Given the description of an element on the screen output the (x, y) to click on. 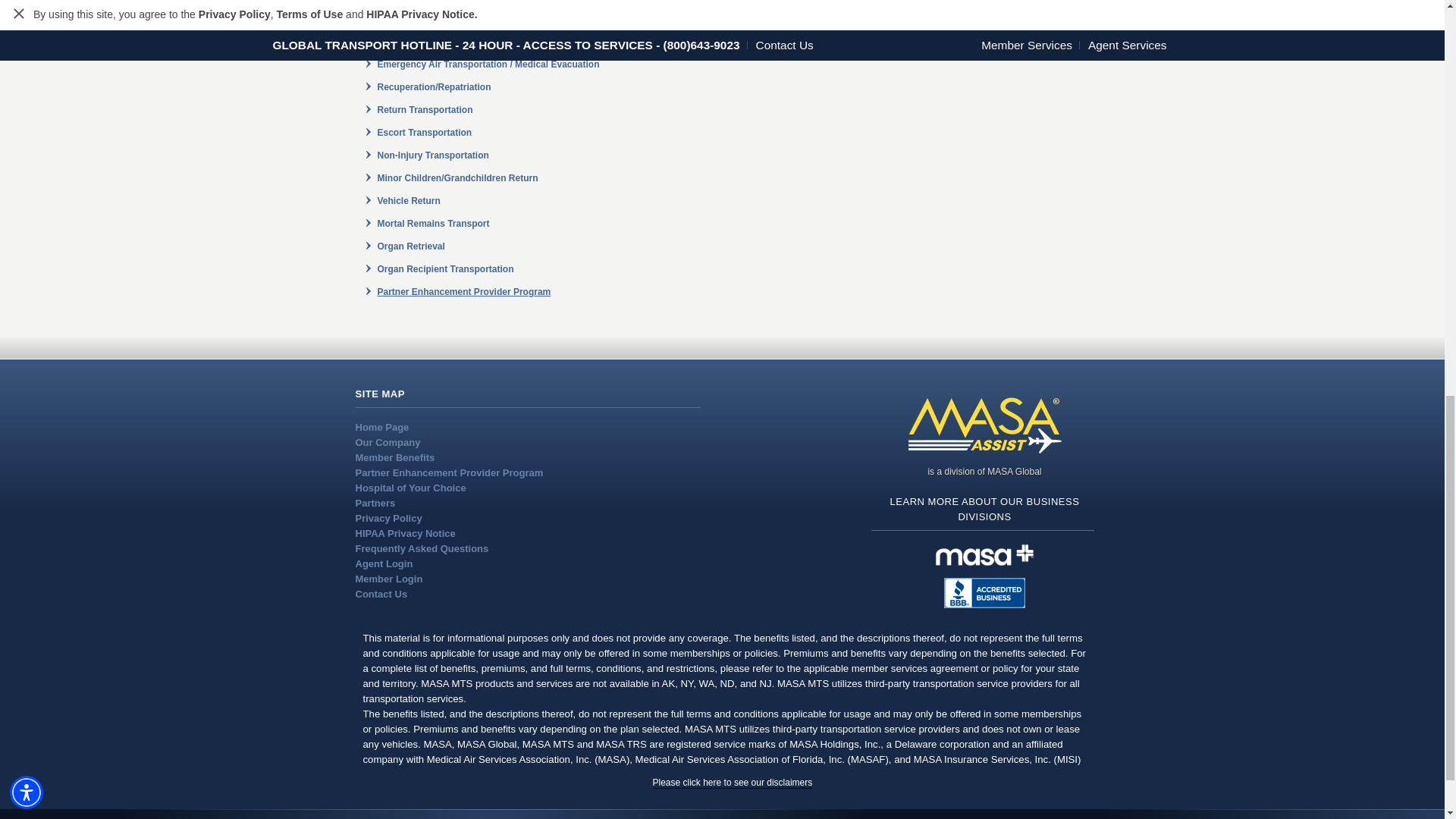
Our Company (387, 441)
Member Login (388, 578)
Contact Us (381, 593)
Member Benefits (394, 457)
HIPAA Privacy Notice (404, 532)
Privacy Policy (388, 518)
Home Page (382, 427)
Hospital of Your Choice (410, 487)
BENEFITS (721, 5)
Partners (374, 502)
Partner Enhancement Provider Program (449, 472)
Frequently Asked Questions (421, 548)
Partner Enhancement Provider Program (464, 291)
Please click here to see our disclaimers (732, 782)
Agent Login (383, 563)
